Given the description of an element on the screen output the (x, y) to click on. 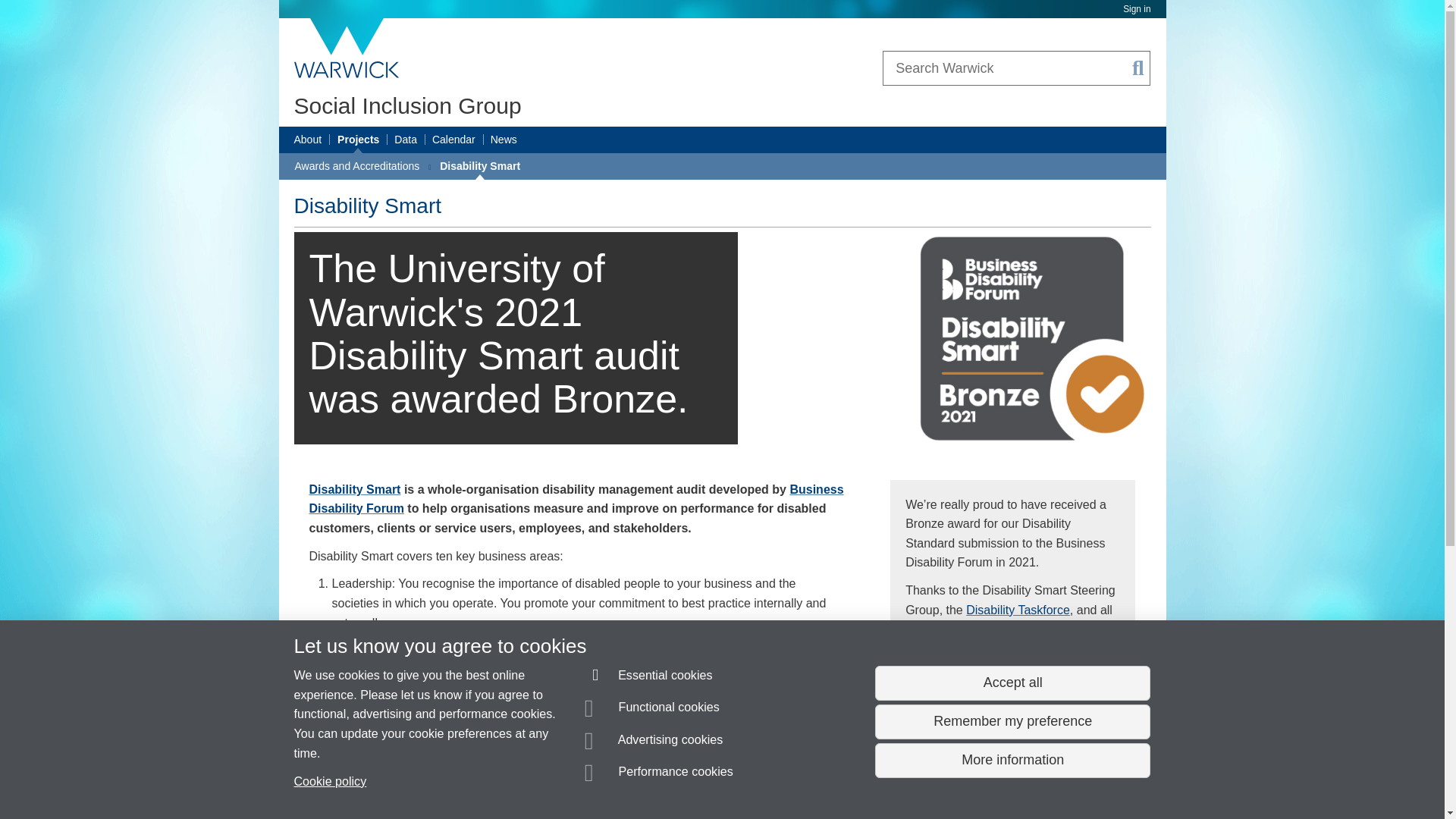
Disability Smart (354, 489)
Awards and Accreditations (356, 166)
Data (405, 139)
Cookie policy (330, 780)
Remember my preference (1012, 721)
Accept all (1012, 683)
Social Inclusion Group (407, 105)
Projects (357, 139)
Essential cookies are always on (649, 677)
Disability Smart (479, 166)
News (503, 139)
Business Disability Forum (576, 499)
Accept all functional, advertising and performance cookies (1012, 683)
